Given the description of an element on the screen output the (x, y) to click on. 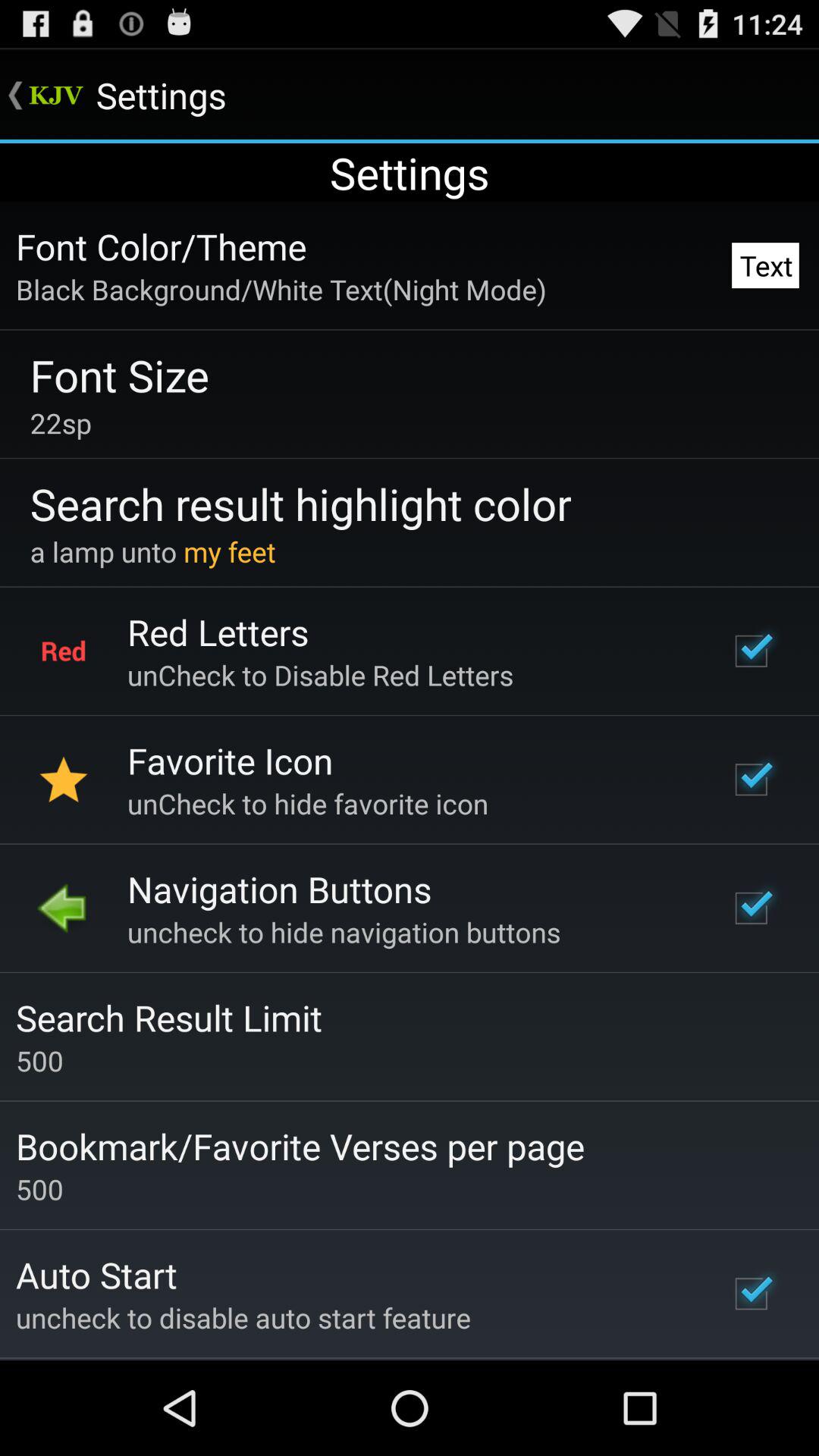
tap the item above the font size icon (280, 289)
